Given the description of an element on the screen output the (x, y) to click on. 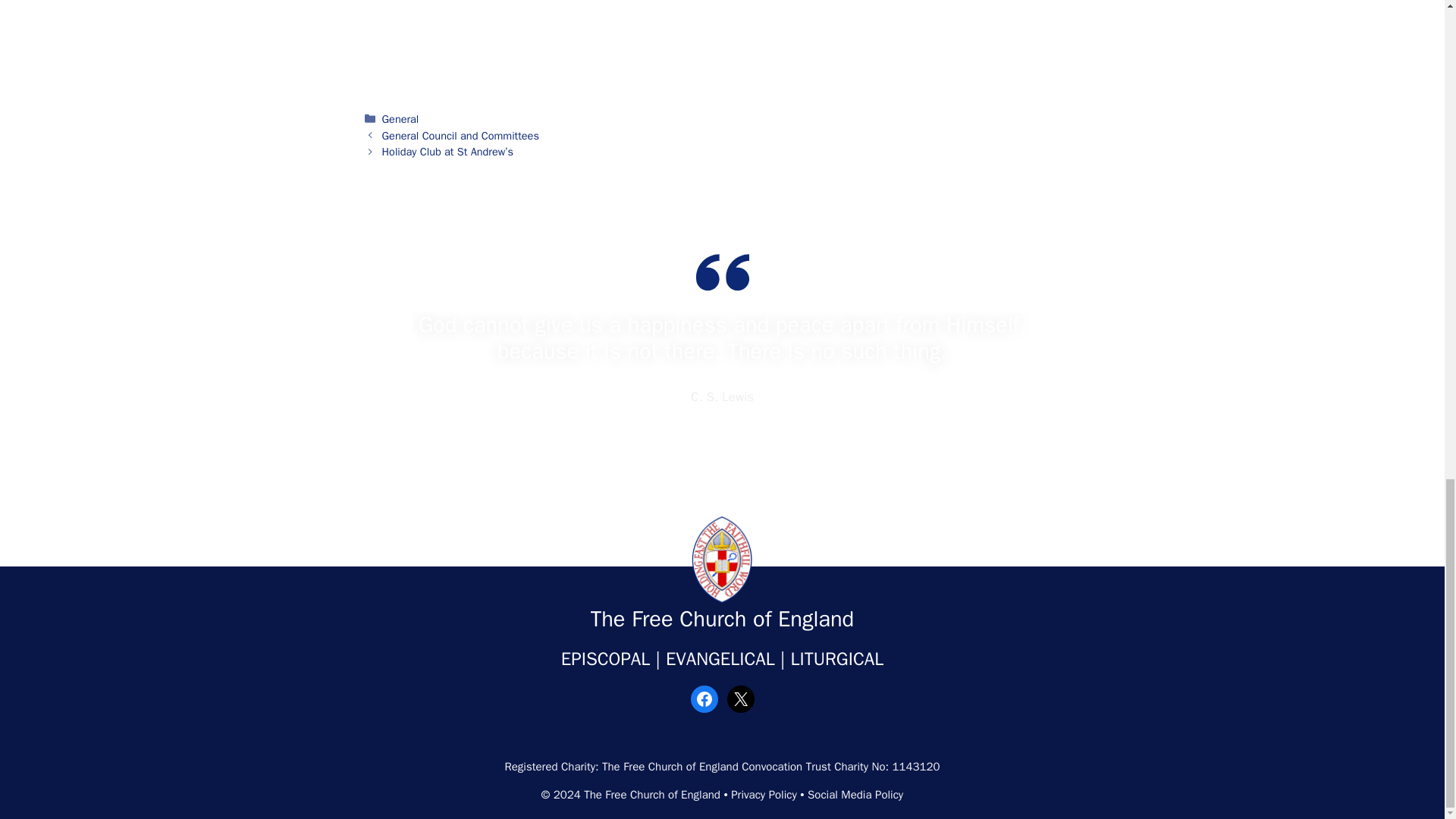
Facebook (703, 698)
General (400, 119)
X (740, 698)
General Council and Committees (459, 135)
Privacy Policy (763, 794)
